Given the description of an element on the screen output the (x, y) to click on. 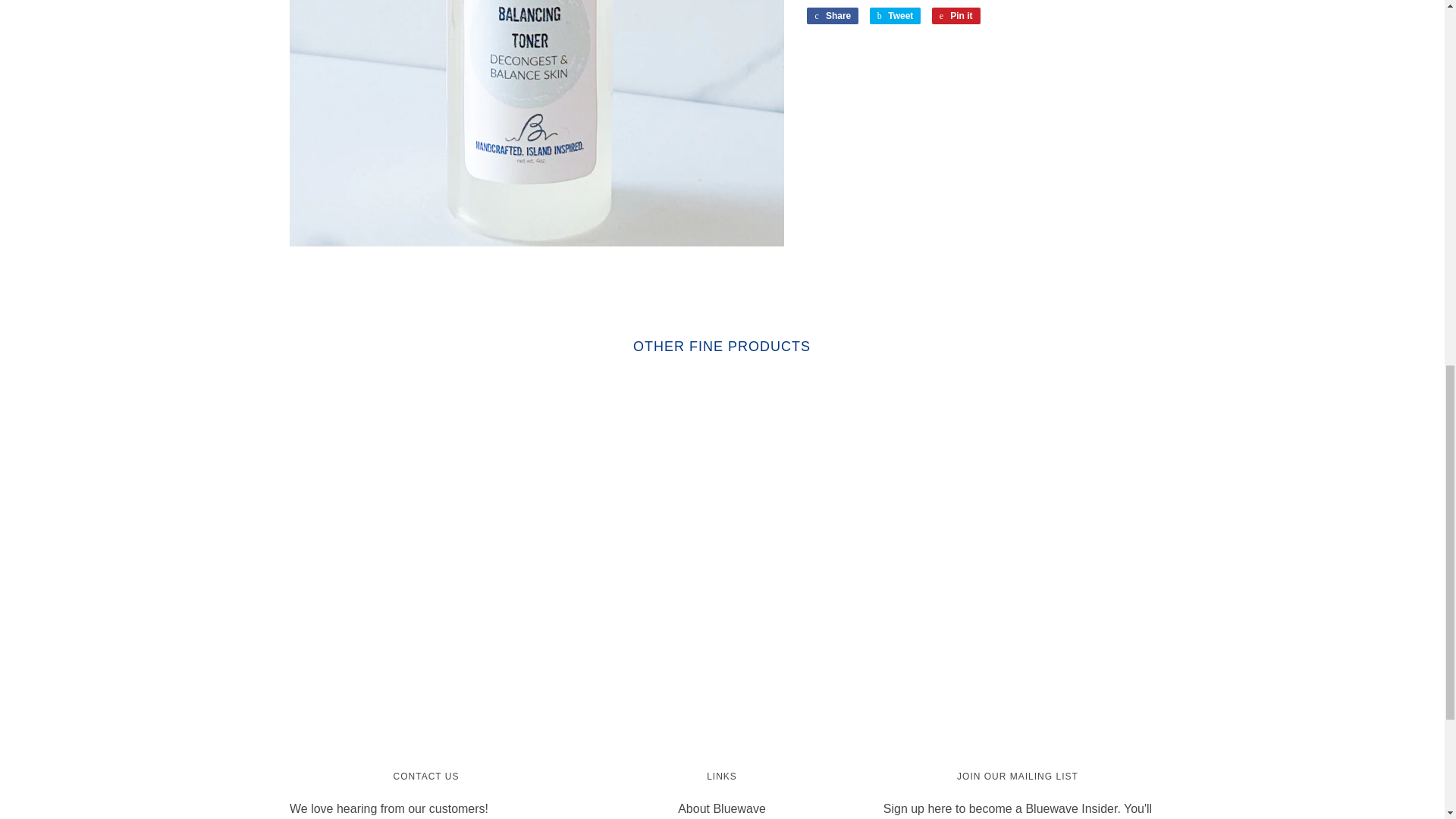
Share (832, 15)
Pin it (955, 15)
Tweet (895, 15)
